Given the description of an element on the screen output the (x, y) to click on. 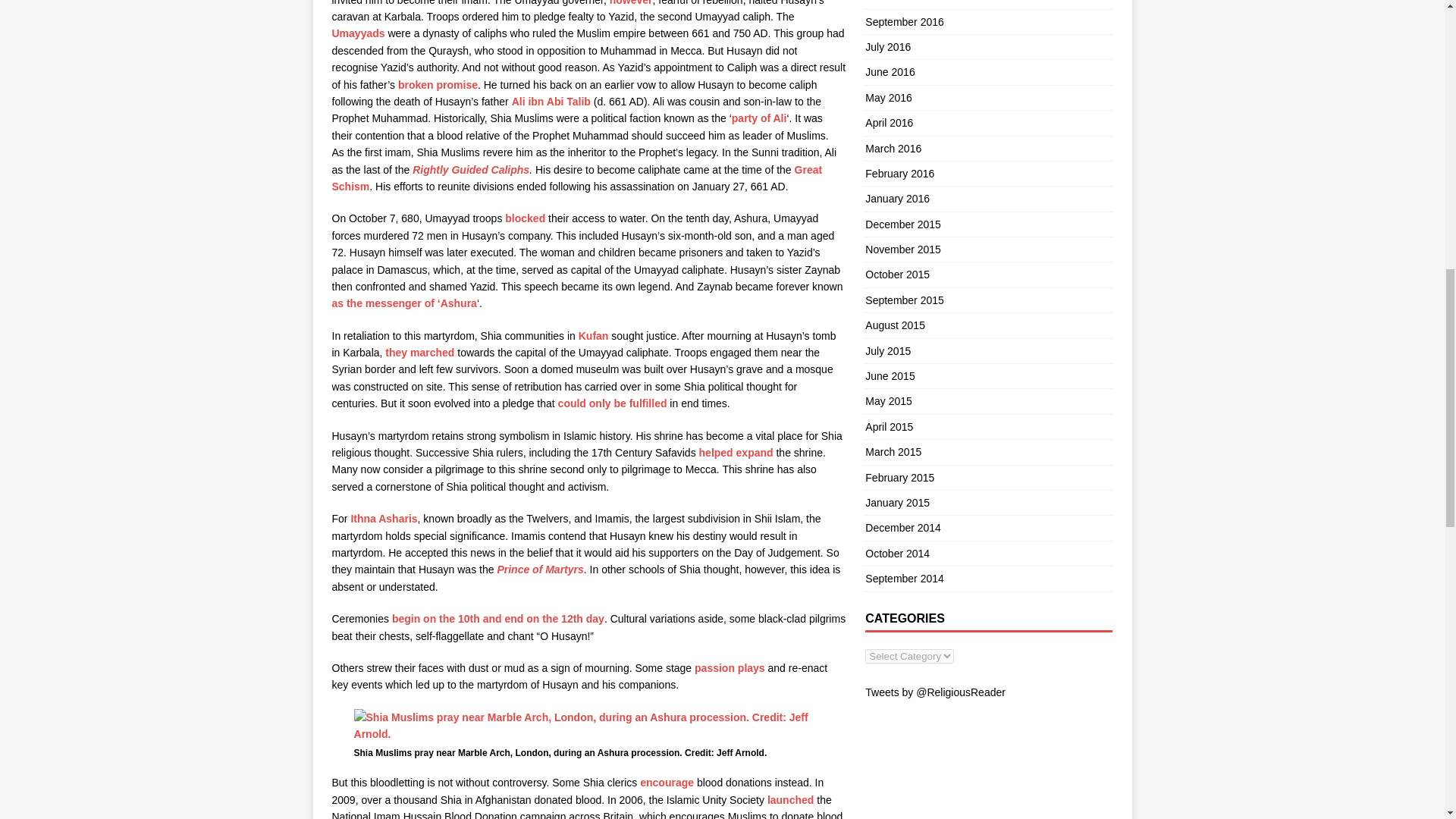
Great Schism (576, 177)
broken promise (437, 84)
Ali ibn Abi Talib (551, 101)
blocked (524, 218)
party of Ali (759, 118)
Rightly Guided Caliphs (470, 169)
Umayyads (358, 33)
however (631, 2)
